Given the description of an element on the screen output the (x, y) to click on. 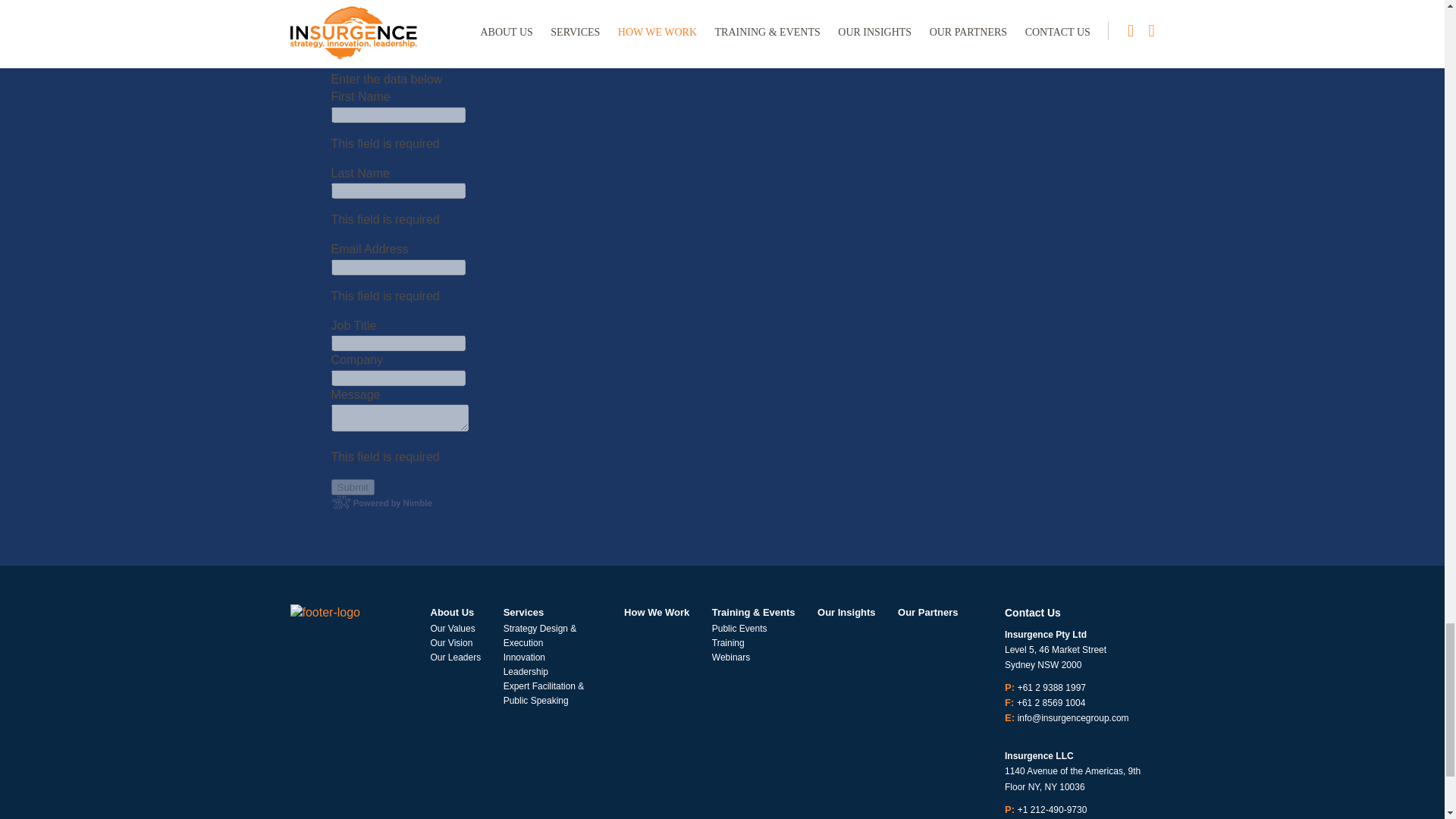
Our Values (453, 628)
About Us (452, 612)
Services (523, 612)
How We Work (656, 612)
Innovation (523, 656)
Leadership (525, 671)
Our Vision (451, 643)
Our Leaders (455, 656)
